Given the description of an element on the screen output the (x, y) to click on. 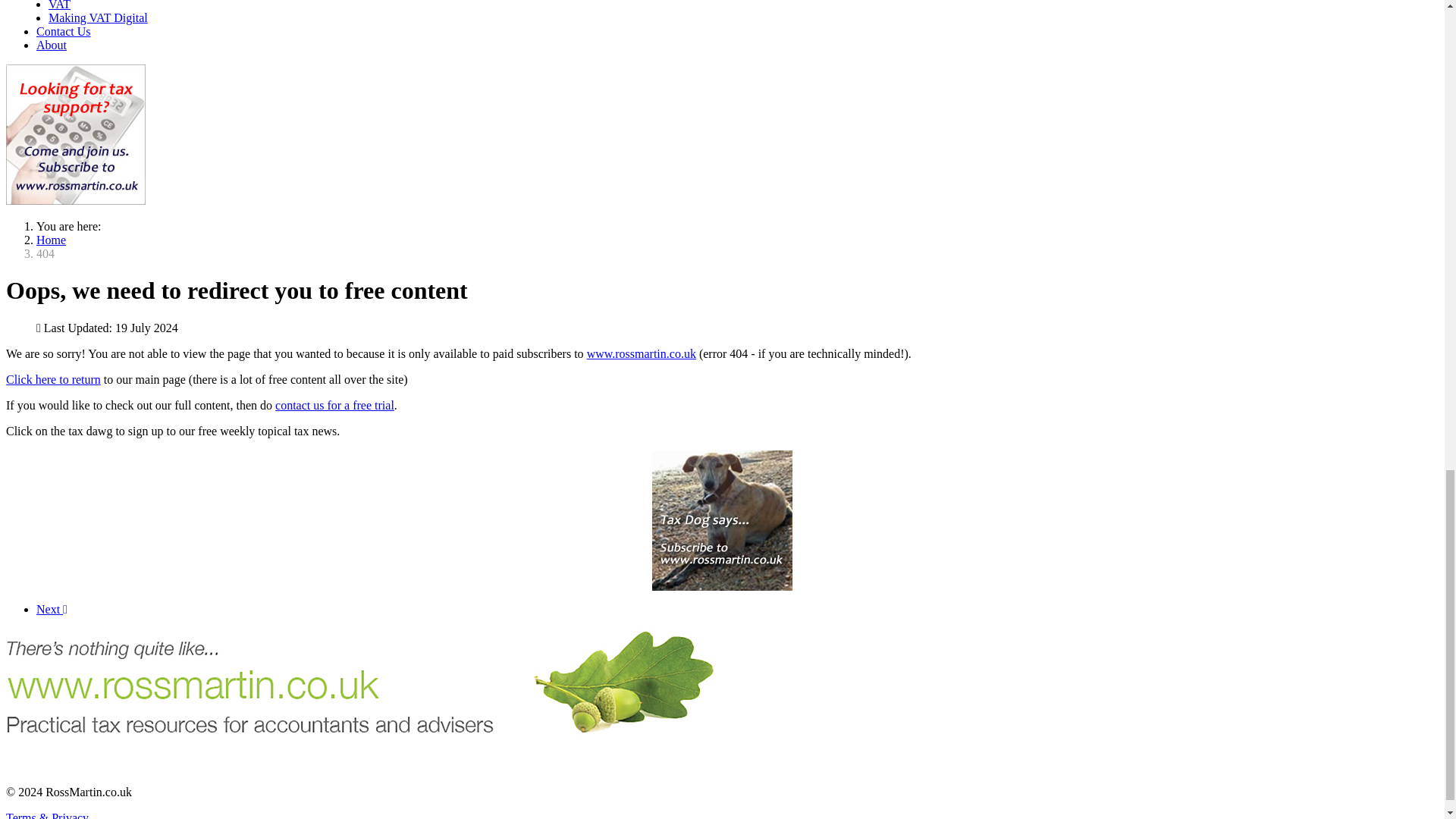
About Us (51, 608)
Tax support (75, 200)
